Given the description of an element on the screen output the (x, y) to click on. 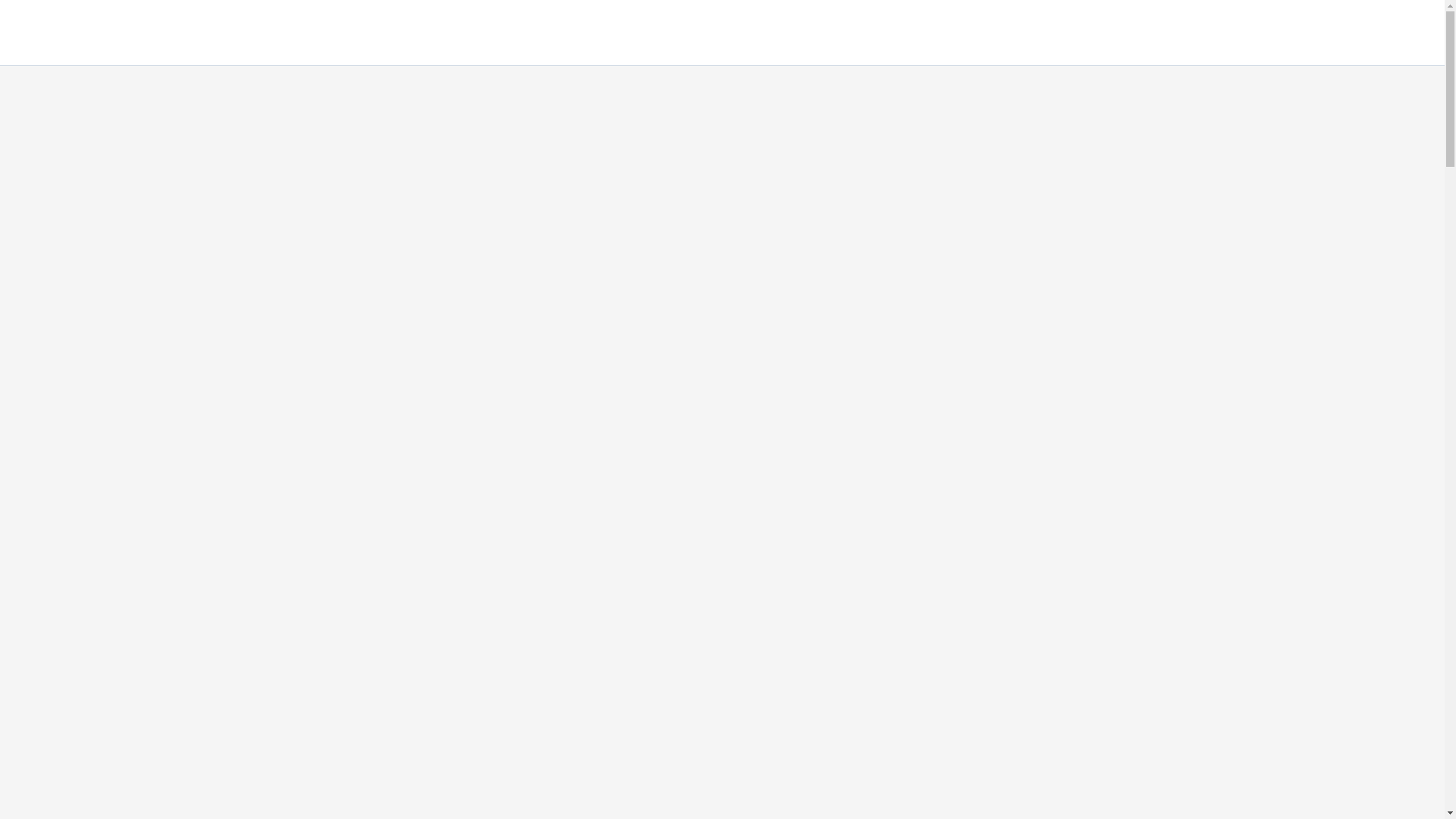
MEMBERSHIP (1063, 32)
SERVICE (854, 32)
CancelHow (67, 23)
SUBSCRIPTION (1173, 32)
CONTACT US (1377, 32)
INSURANCE (1278, 32)
ORDER (976, 32)
